Given the description of an element on the screen output the (x, y) to click on. 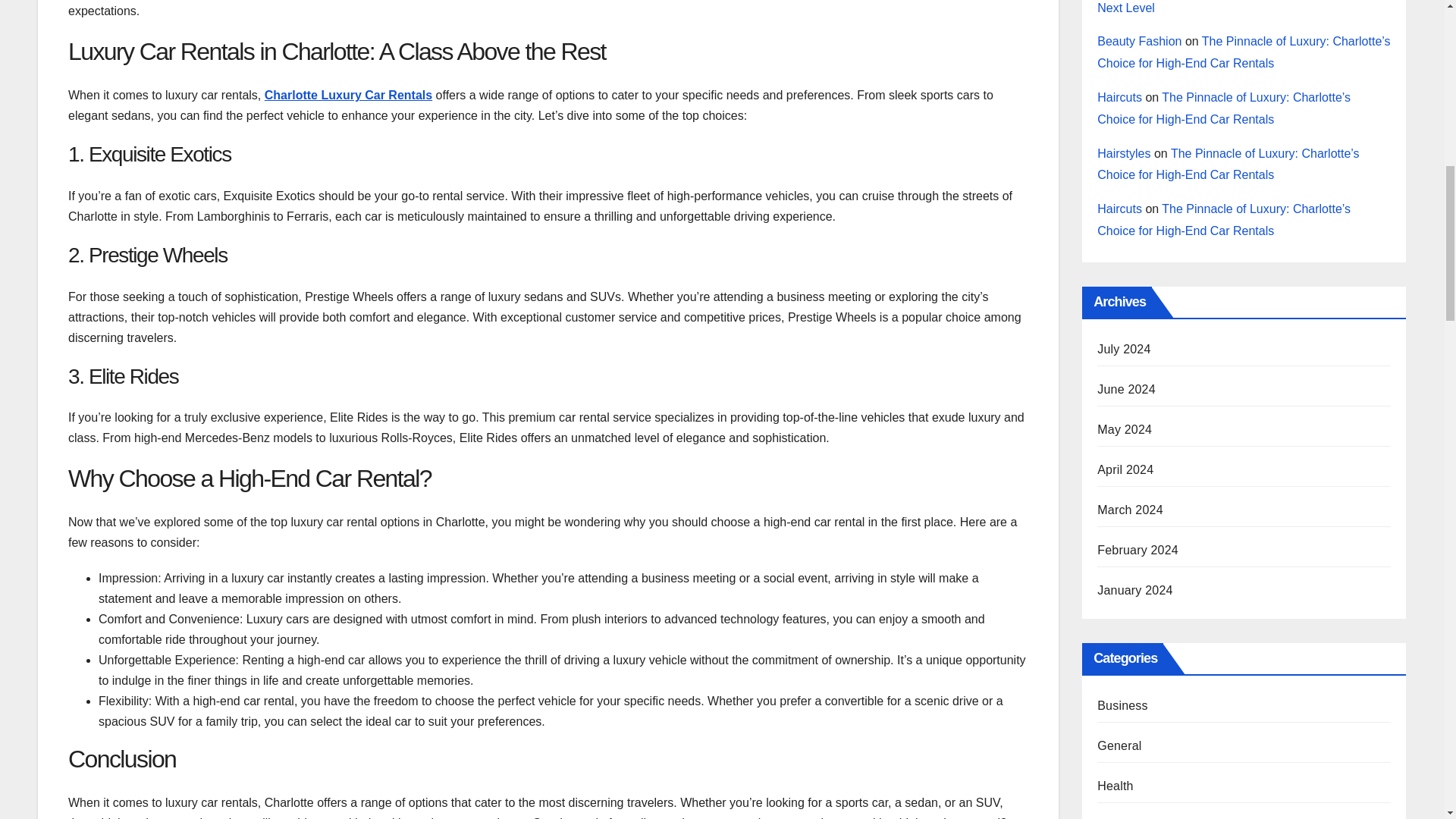
Charlotte Luxury Car Rentals (348, 94)
